Given the description of an element on the screen output the (x, y) to click on. 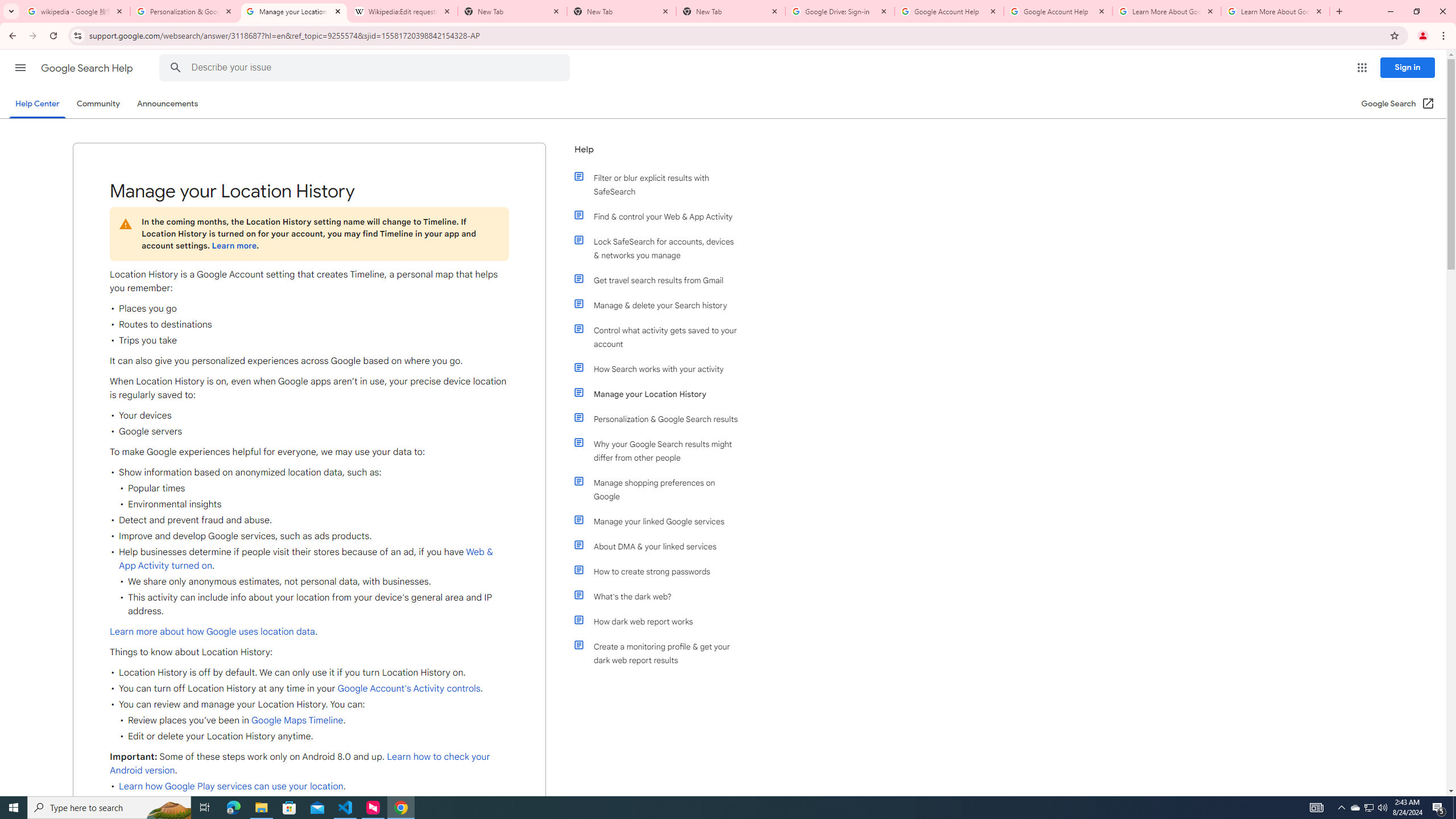
Find & control your Web & App Activity (661, 216)
Google apps (1362, 67)
Google Search Help (87, 68)
Search Help Center (175, 67)
